Given the description of an element on the screen output the (x, y) to click on. 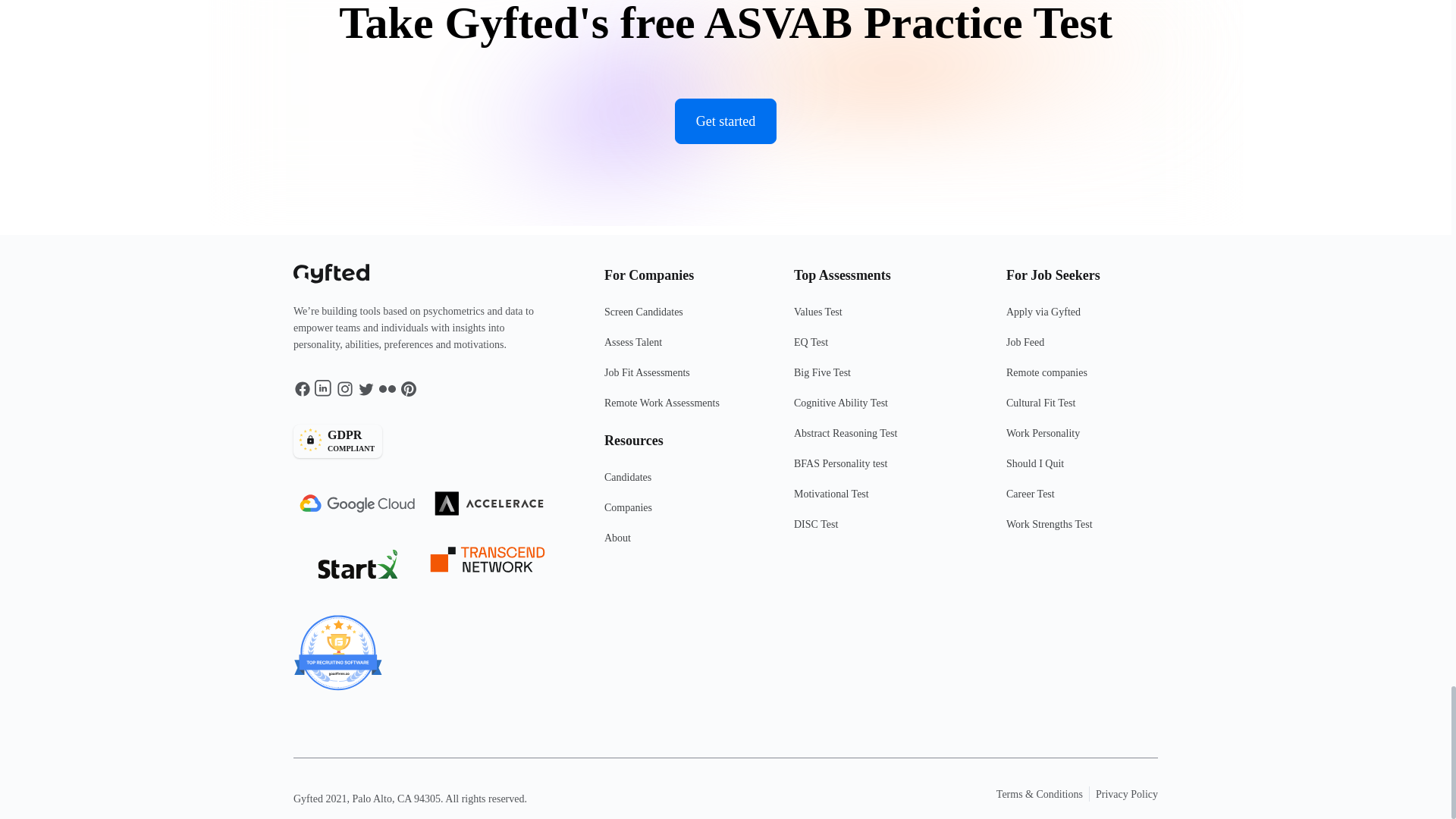
Screen Candidates (425, 441)
About (679, 318)
Candidates (679, 544)
Values Test (679, 483)
EQ Test (880, 318)
Assess Talent (880, 348)
Job Fit Assessments (679, 348)
Get started (679, 378)
Remote Work Assessments (725, 121)
Companies (679, 409)
